Given the description of an element on the screen output the (x, y) to click on. 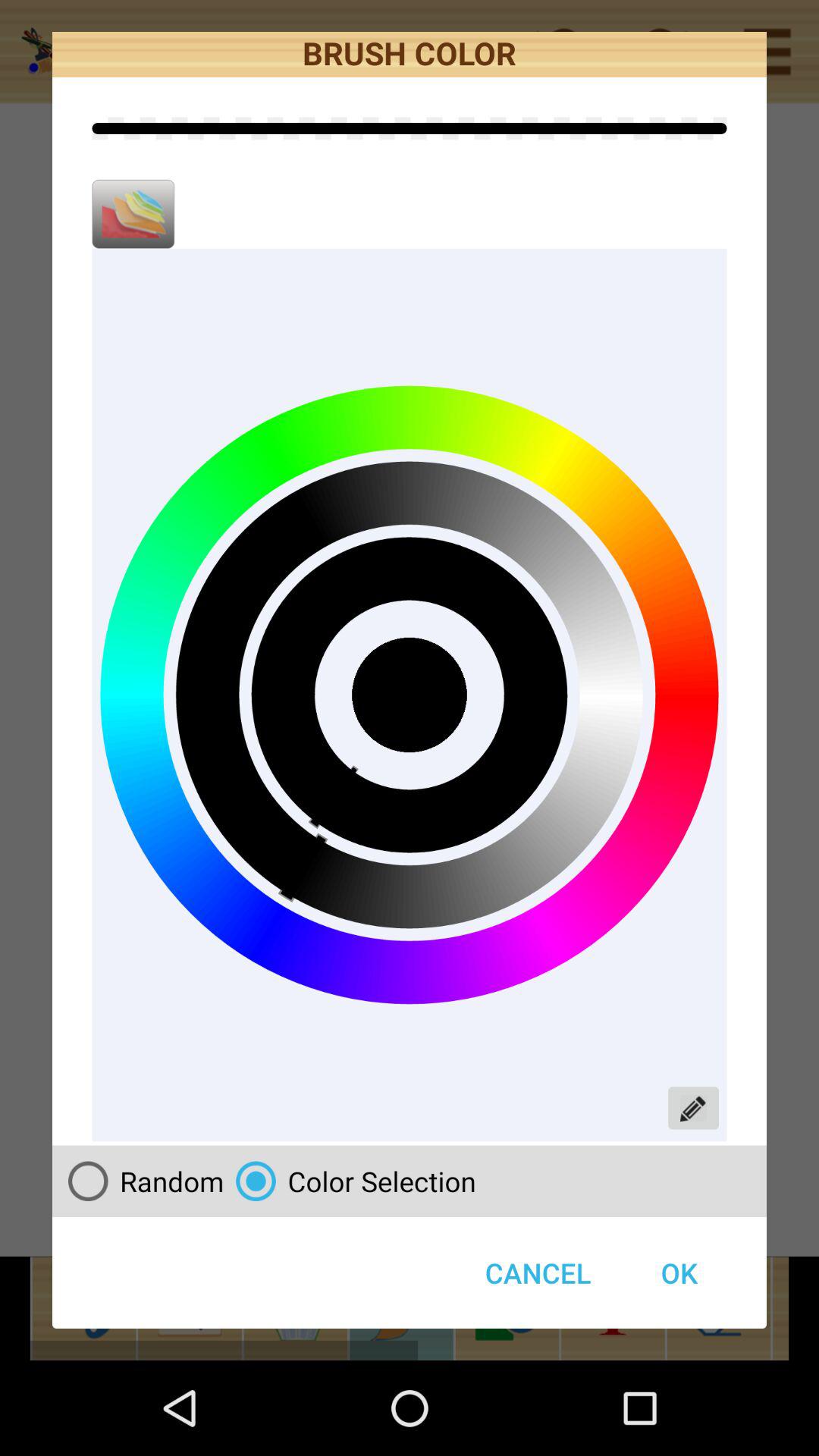
launch ok icon (678, 1272)
